Given the description of an element on the screen output the (x, y) to click on. 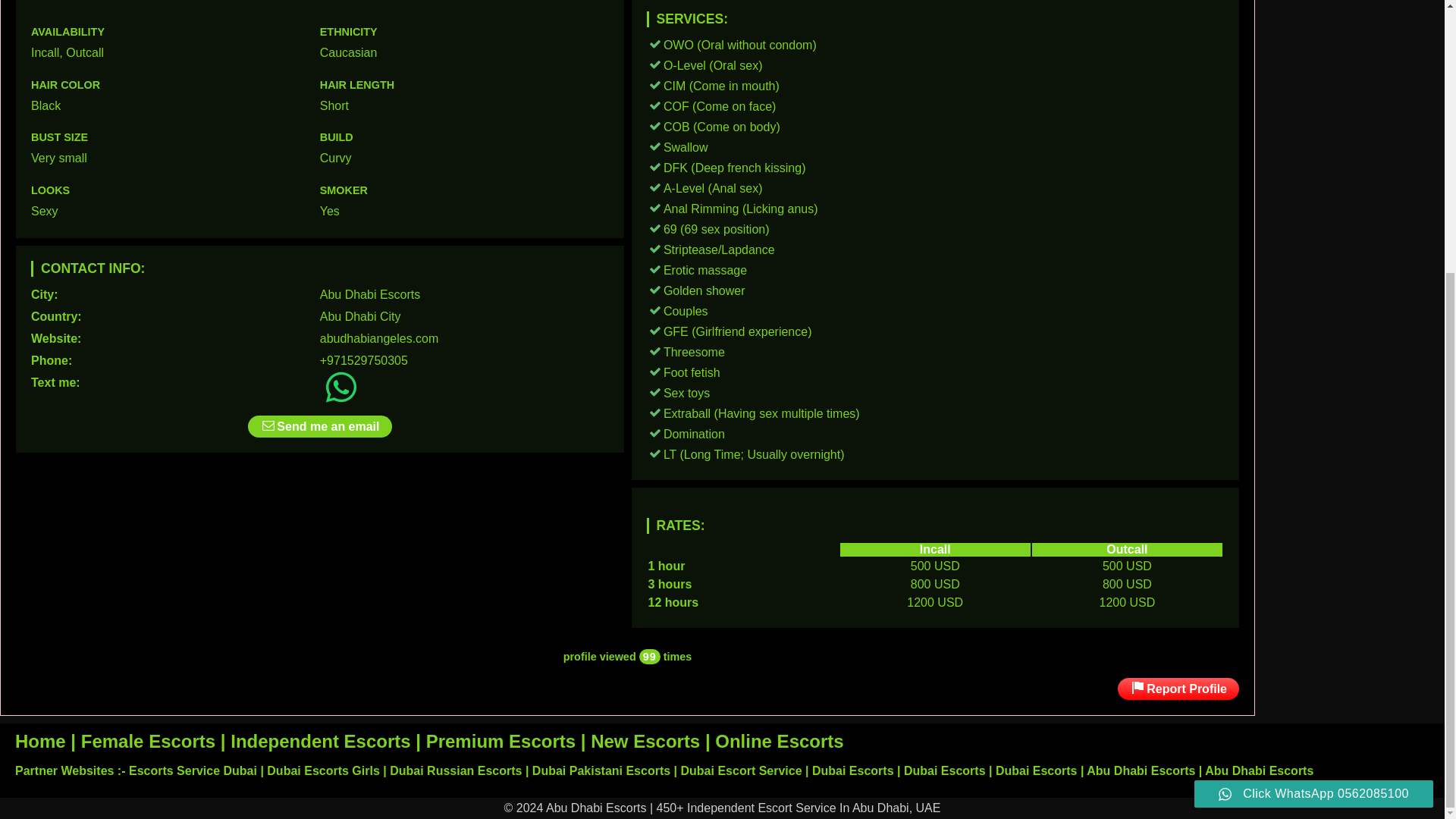
abudhabiangeles.com (379, 338)
Abu Dhabi Escorts (370, 294)
Female Escorts (148, 741)
Dubai Escorts (1036, 770)
New Escorts (645, 741)
Premium Escorts (500, 741)
Independent Escorts (320, 741)
Escorts Service Dubai (193, 770)
Dubai Escort Service (741, 770)
Home (39, 741)
